Given the description of an element on the screen output the (x, y) to click on. 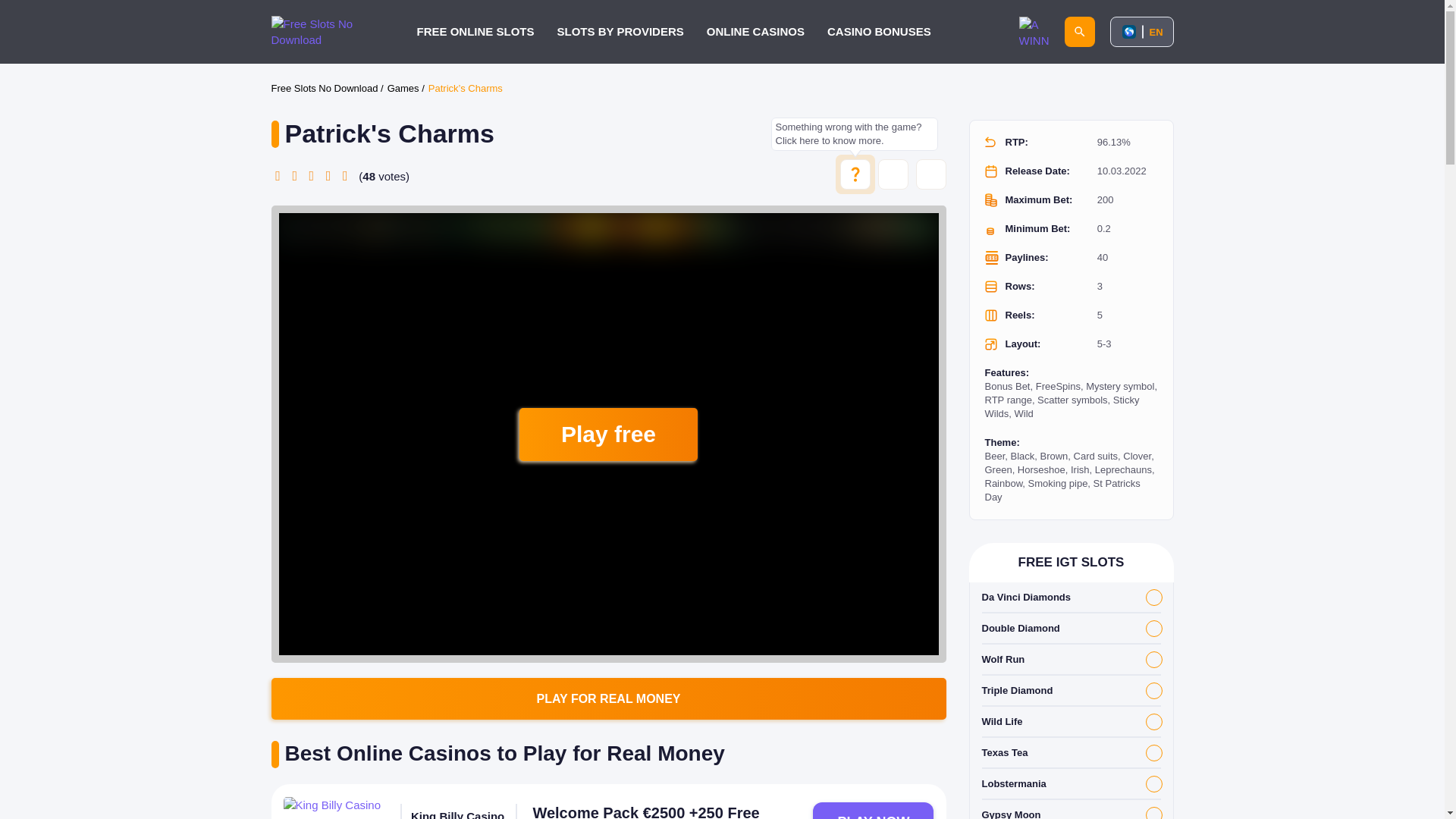
Full Screen (930, 173)
Bug Report (892, 173)
FREE ONLINE SLOTS (475, 31)
